Given the description of an element on the screen output the (x, y) to click on. 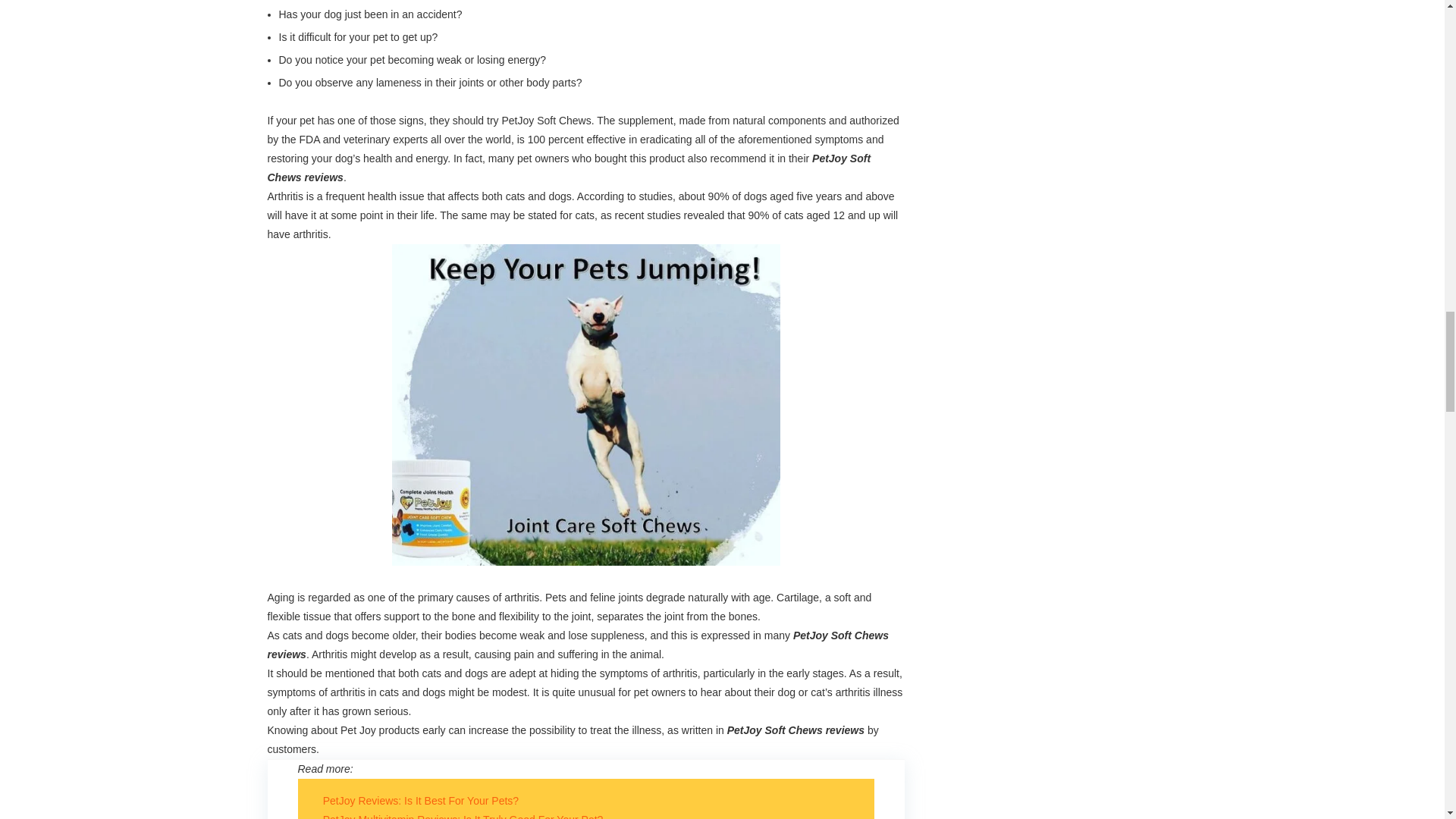
PetJoy Reviews: Is It Best For Your Pets? (420, 800)
PetJoy Multivitamin Reviews: Is It Truly Good For Your Pet? (463, 816)
